Given the description of an element on the screen output the (x, y) to click on. 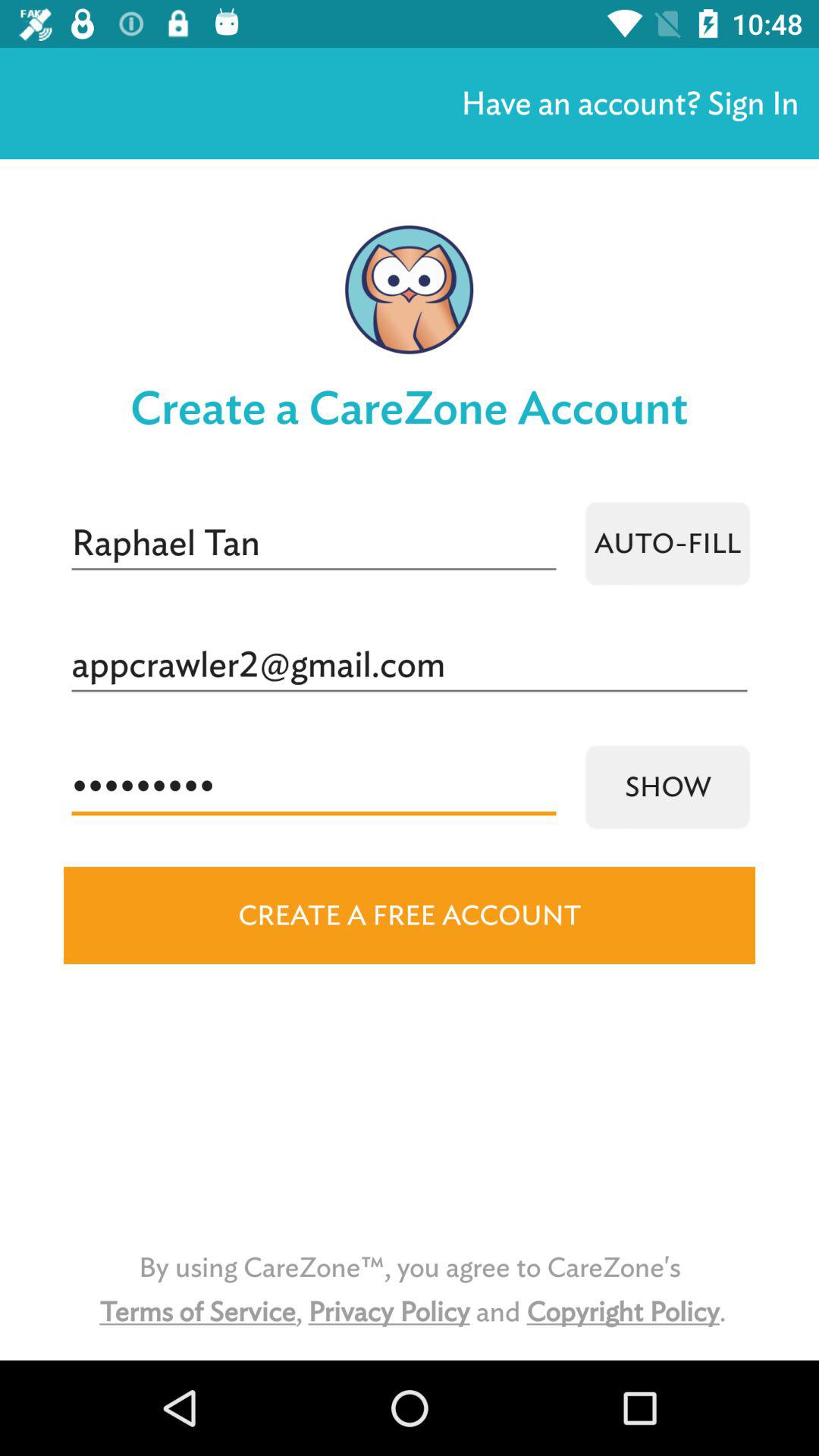
turn on item below create a carezone item (667, 543)
